Given the description of an element on the screen output the (x, y) to click on. 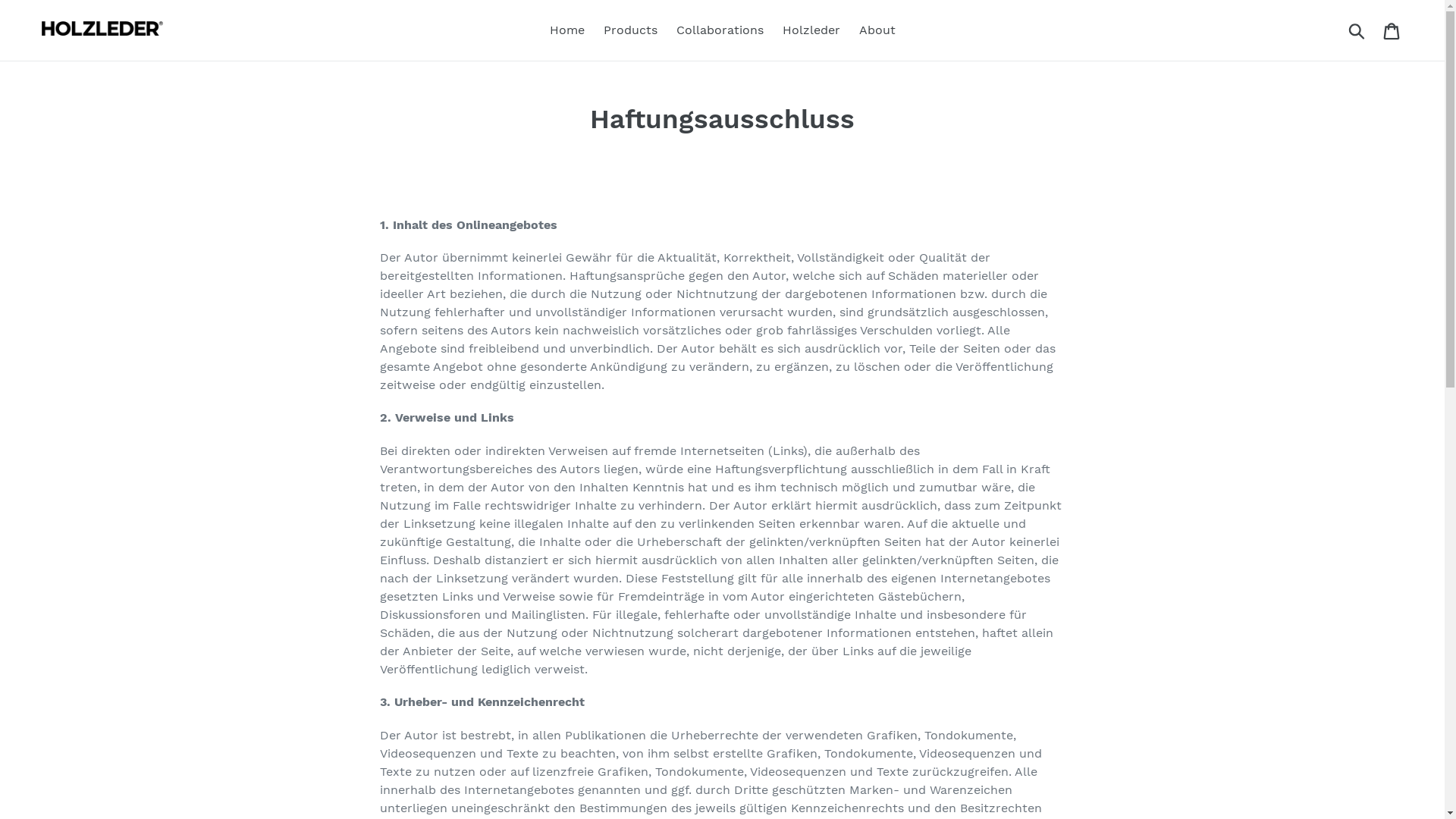
Collaborations Element type: text (719, 29)
Suchen Element type: text (1357, 30)
Einkaufswagen Element type: text (1392, 30)
About Element type: text (876, 29)
Holzleder Element type: text (811, 29)
Products Element type: text (630, 29)
Home Element type: text (566, 29)
